Given the description of an element on the screen output the (x, y) to click on. 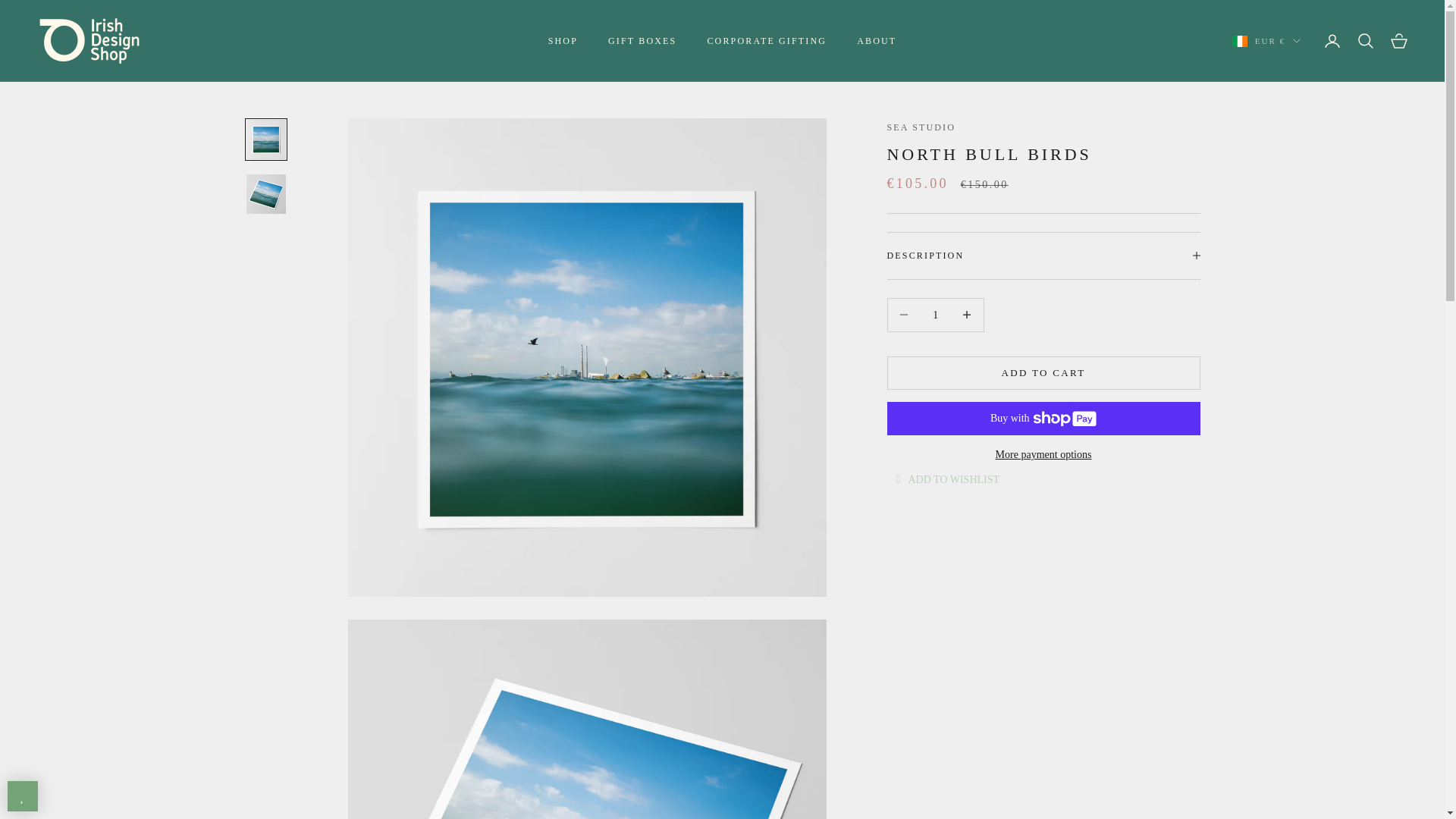
GIFT BOXES (642, 40)
CORPORATE GIFTING (766, 40)
Irish Design Shop (89, 40)
1 (935, 314)
ABOUT (876, 40)
